Given the description of an element on the screen output the (x, y) to click on. 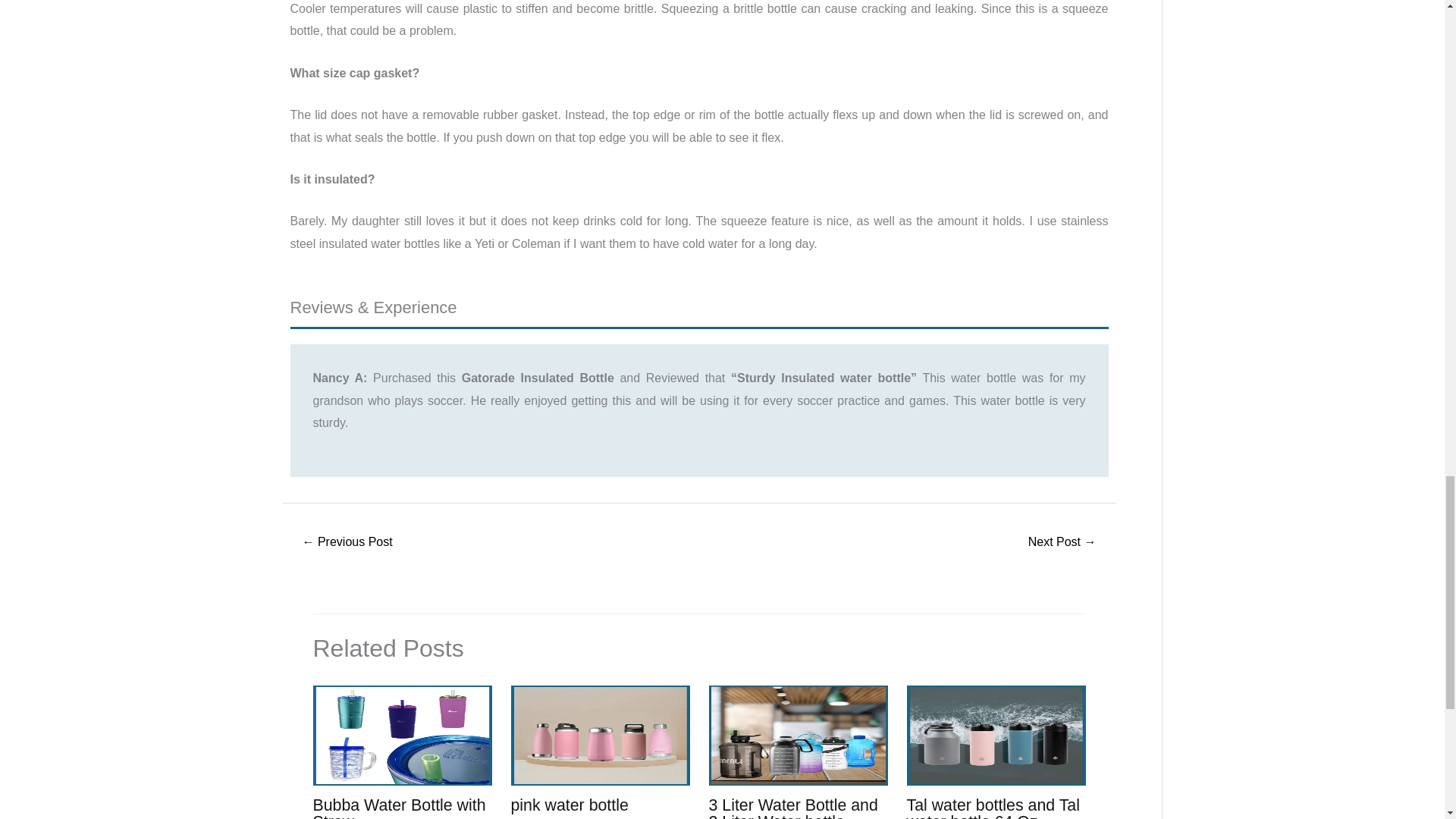
pink water bottle (569, 805)
football water bottles (346, 543)
nike water bottles (1062, 543)
Bubba Water Bottle with Straw (398, 807)
